Given the description of an element on the screen output the (x, y) to click on. 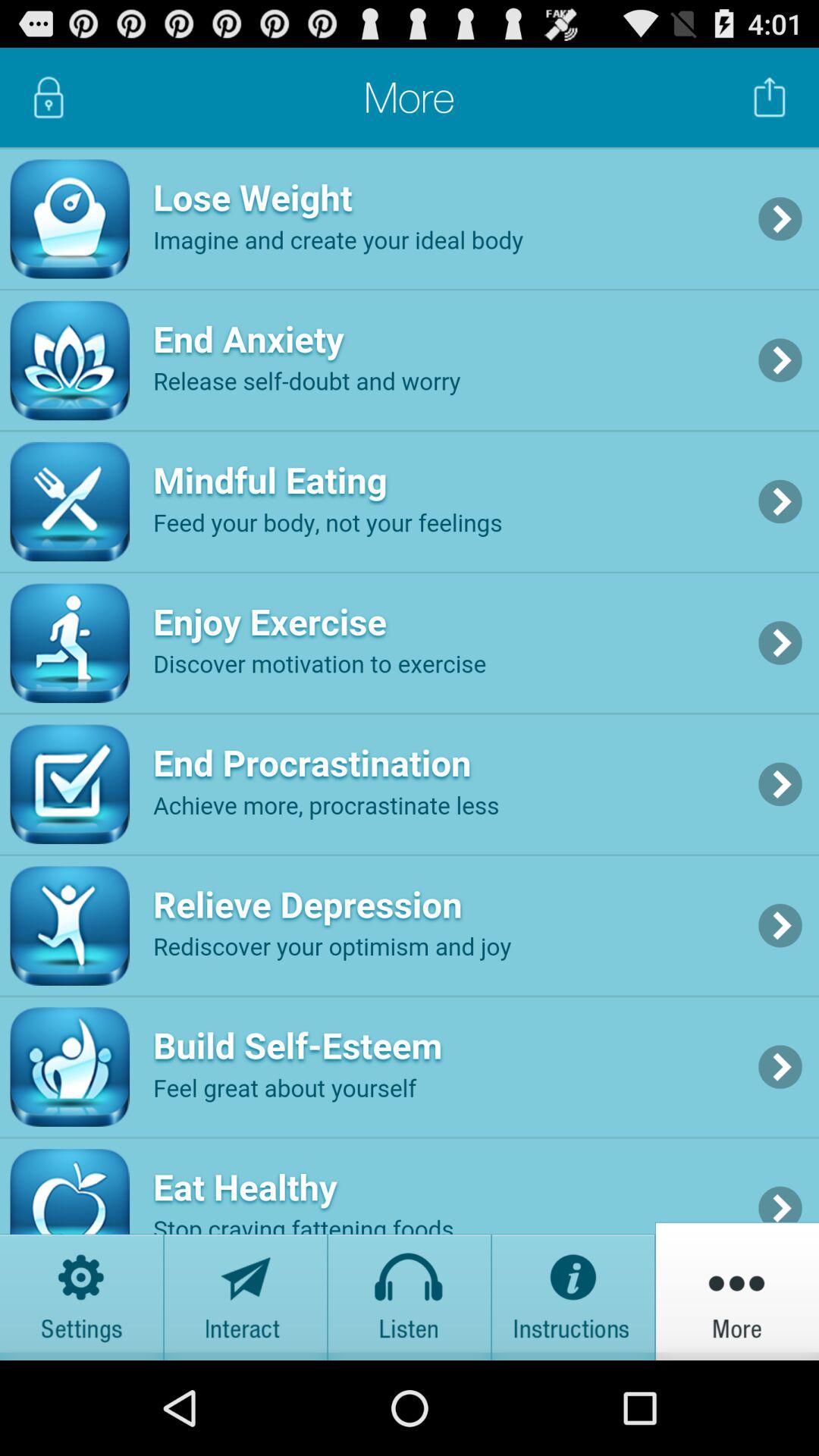
lock page (49, 97)
